Given the description of an element on the screen output the (x, y) to click on. 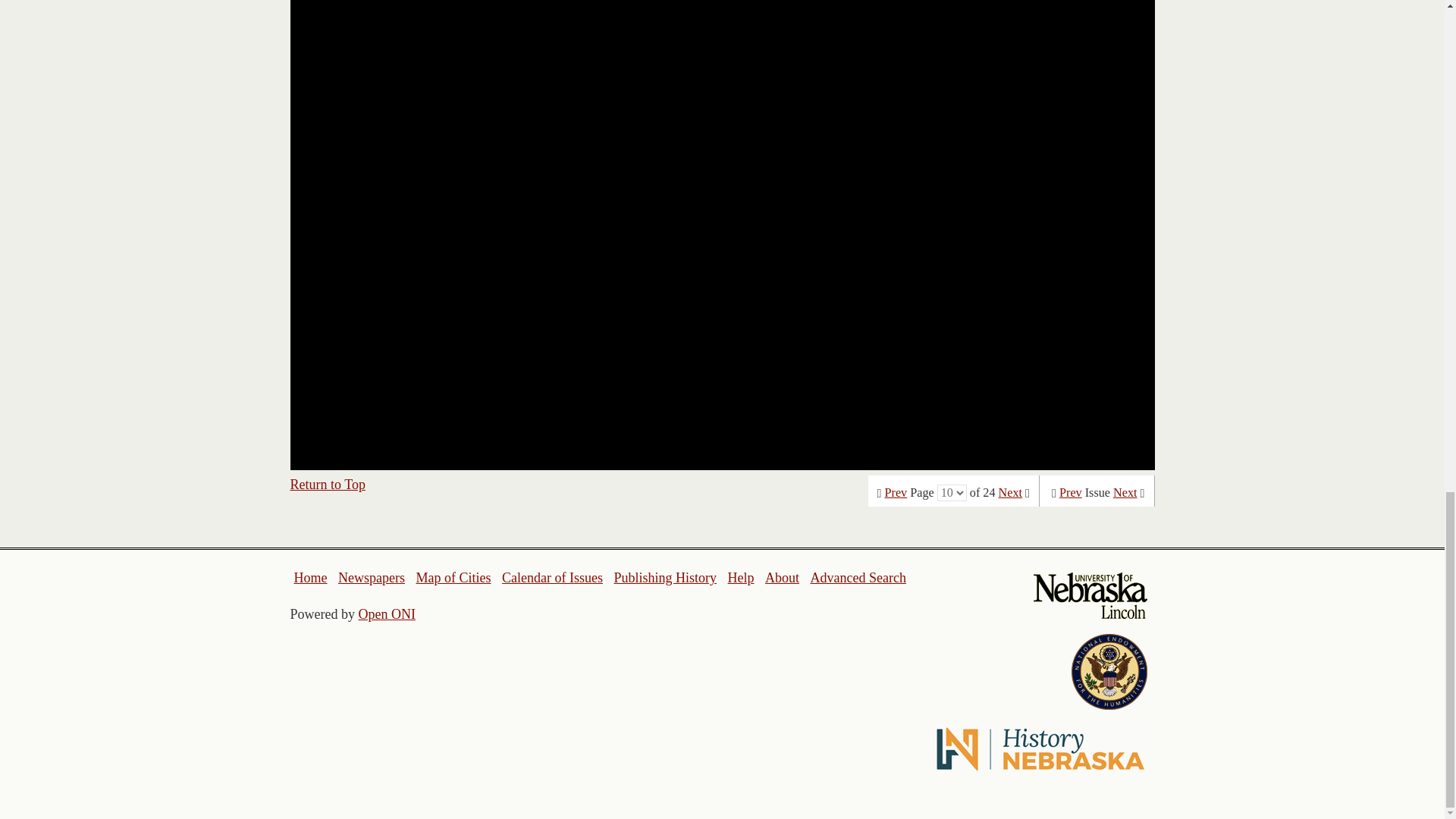
Newspapers (370, 577)
About (782, 577)
Prev (1070, 492)
Help (740, 577)
Open ONI (386, 613)
Next (1010, 492)
Next (1125, 492)
Home (310, 577)
Return to Top (327, 484)
Advanced Search (857, 577)
